Given the description of an element on the screen output the (x, y) to click on. 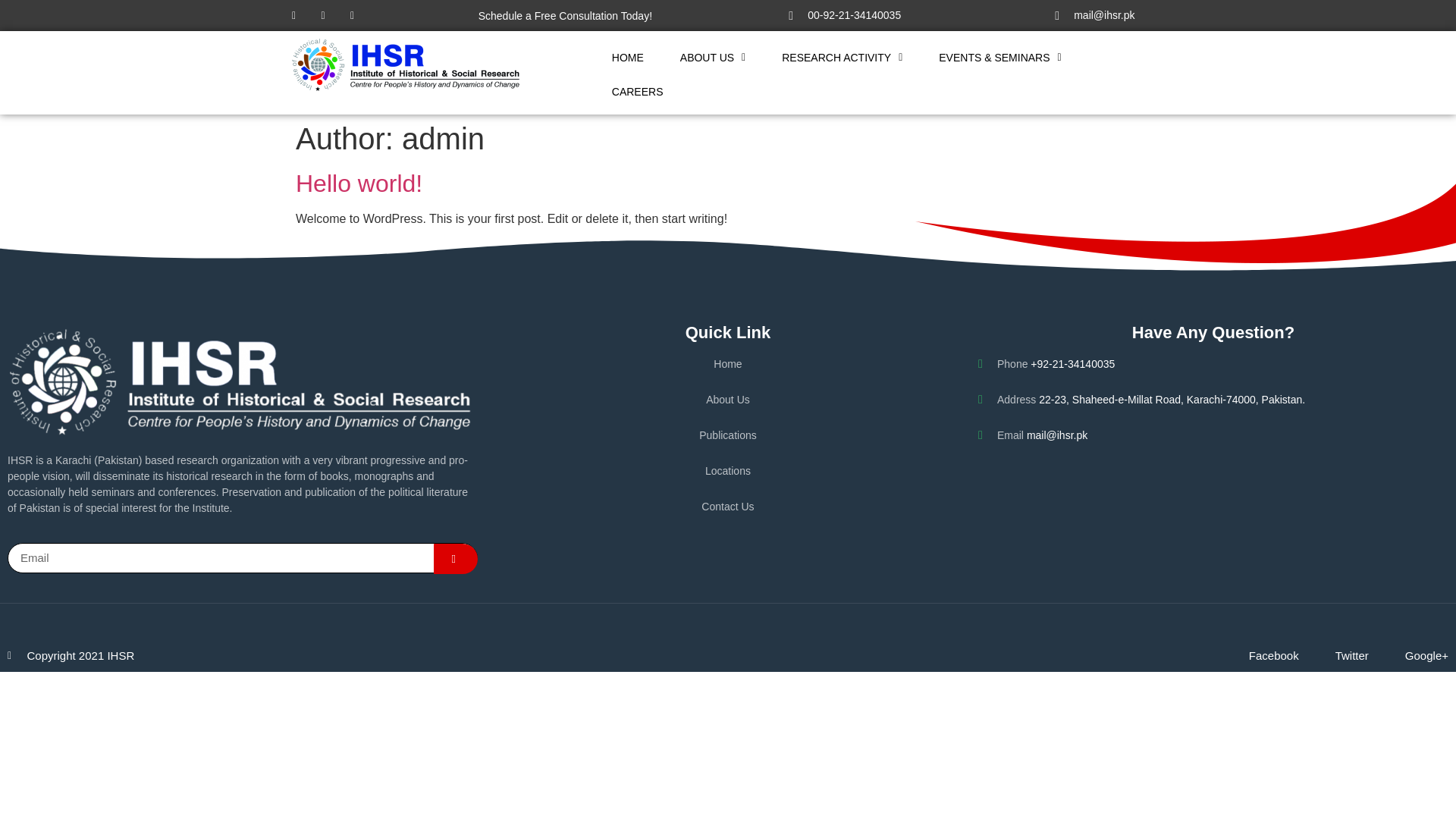
HOME (428, 288)
CAREERS (630, 96)
ABOUT US (414, 198)
RESEARCH ACTIVITY (531, 41)
